Given the description of an element on the screen output the (x, y) to click on. 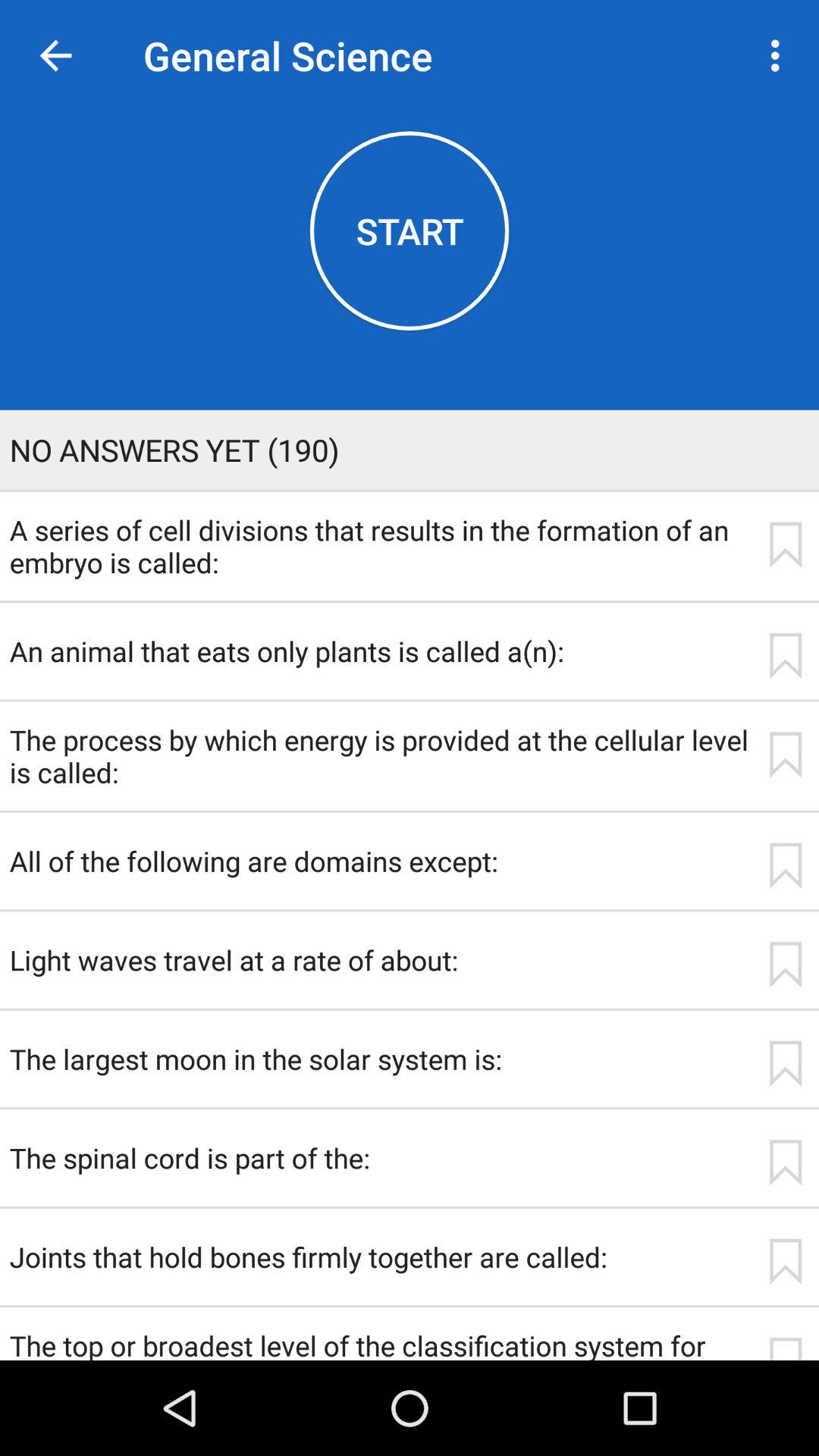
select icon next to the the largest moon icon (784, 1063)
